Given the description of an element on the screen output the (x, y) to click on. 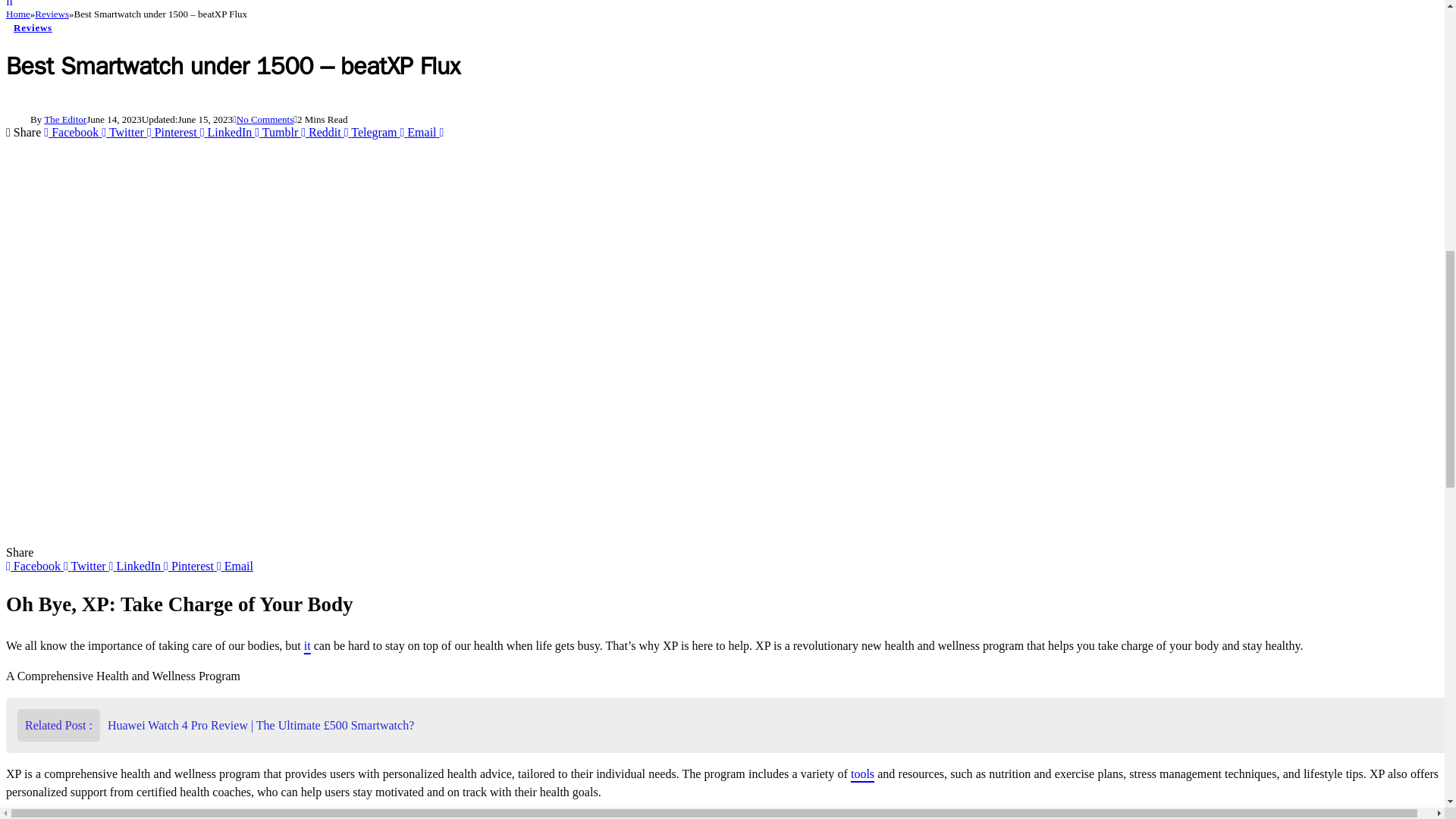
Home (17, 13)
Share on Twitter (124, 132)
Posts by The Editor (64, 119)
Share on Facebook (72, 132)
Share on LinkedIn (228, 132)
Share on Pinterest (173, 132)
Search (9, 3)
Share on Tumblr (277, 132)
Reviews (32, 27)
Reviews (51, 13)
